Given the description of an element on the screen output the (x, y) to click on. 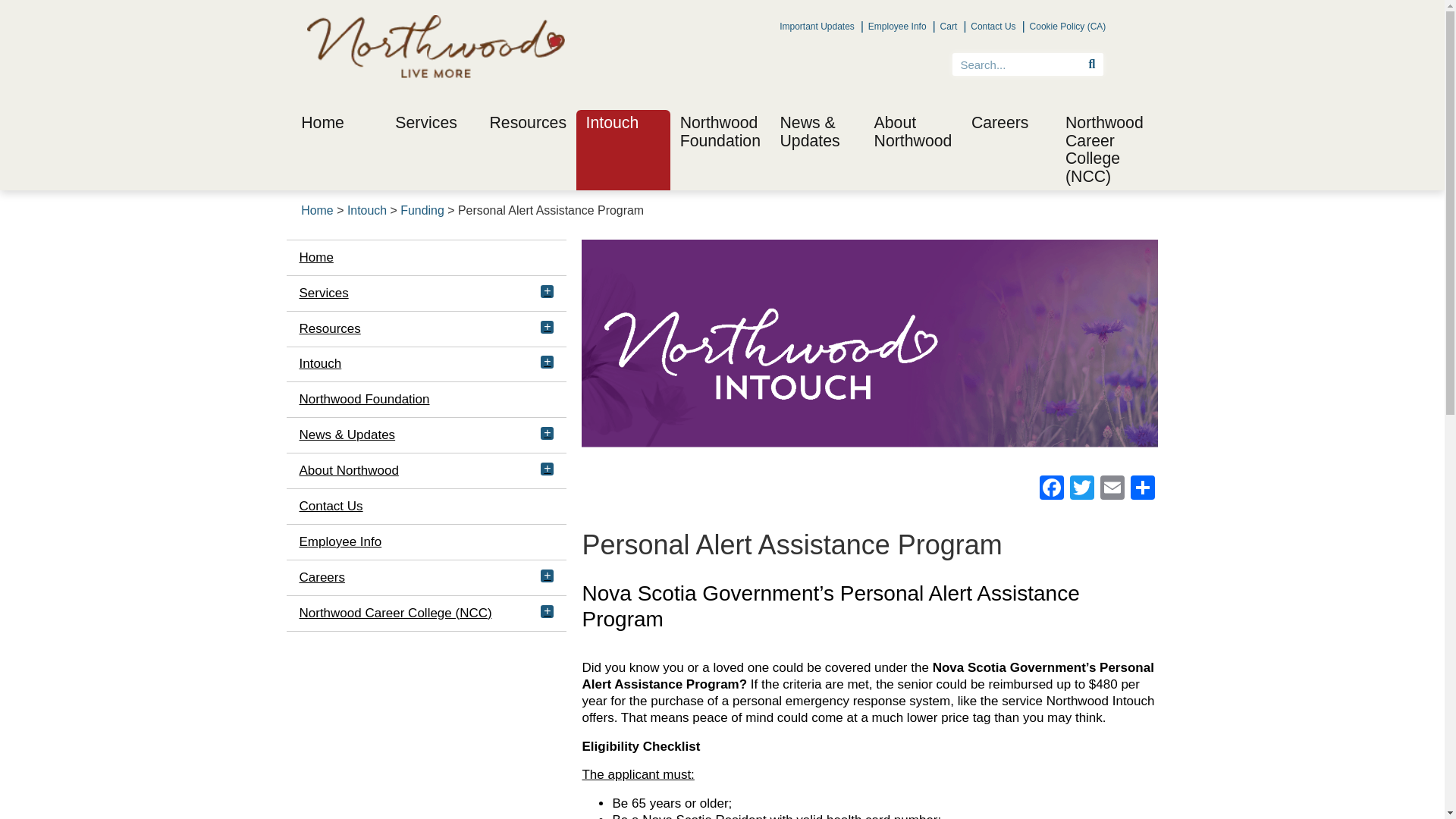
Important Updates (815, 26)
Employee Info (896, 26)
Facebook (1051, 489)
Twitter (1082, 489)
Contact Us (992, 26)
Email (1111, 489)
